Given the description of an element on the screen output the (x, y) to click on. 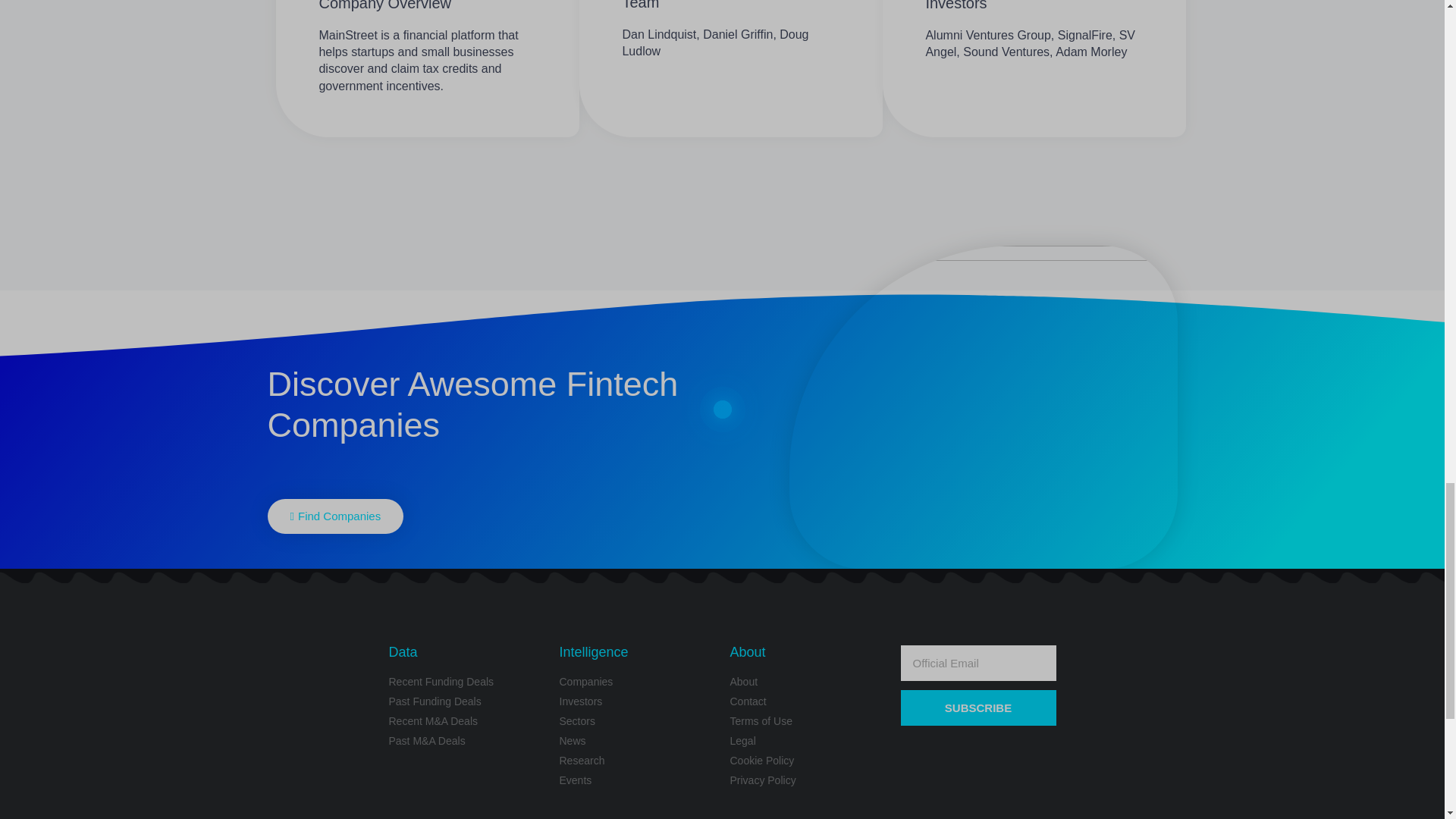
About (807, 682)
Companies (636, 682)
Recent Funding Deals (465, 682)
News (636, 741)
Contact (807, 701)
Cookie Policy (807, 760)
Investors (636, 701)
Research (636, 760)
Terms of Use (807, 721)
Past Funding Deals (465, 701)
